Given the description of an element on the screen output the (x, y) to click on. 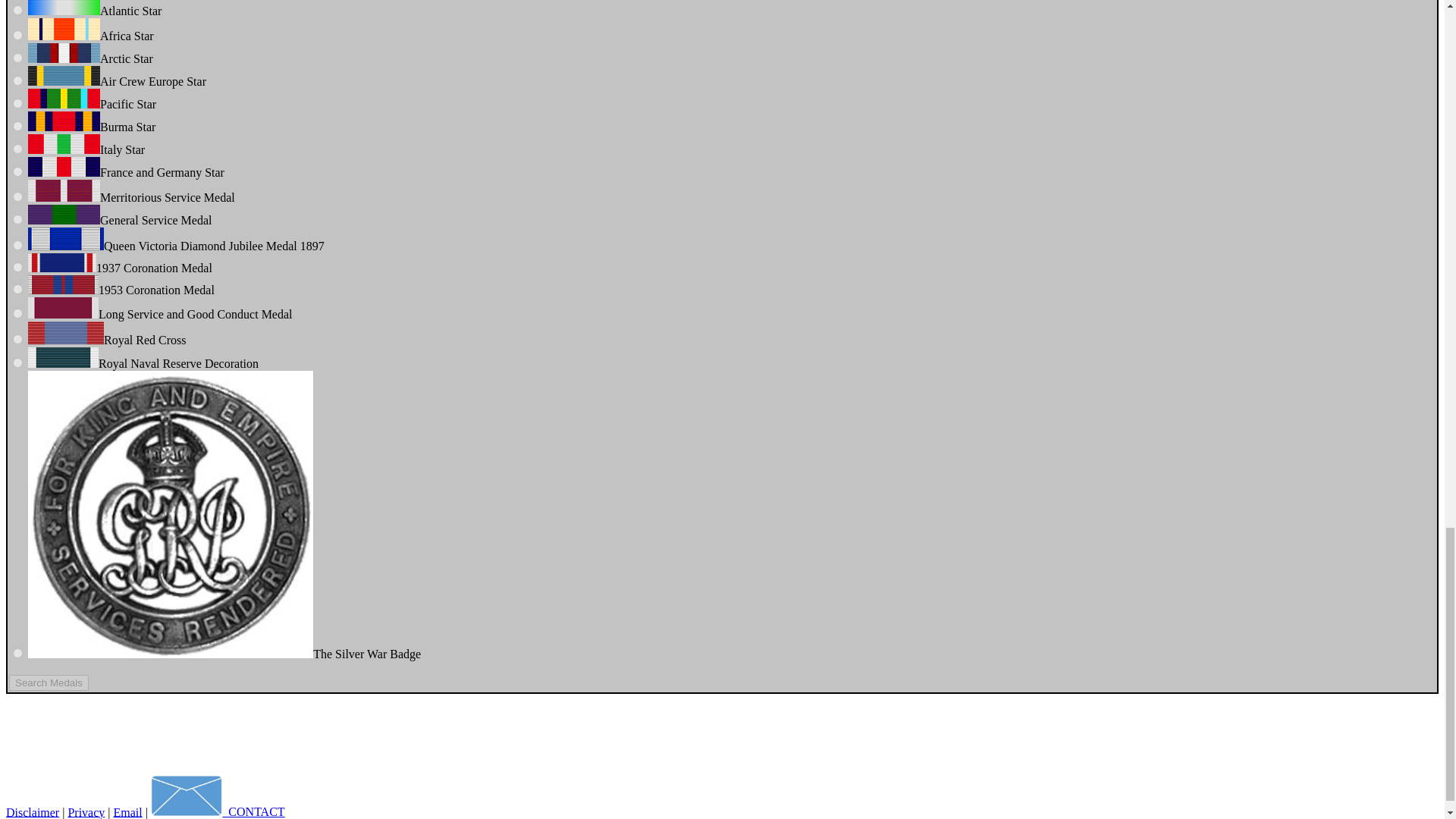
 CONTACT (218, 811)
Search Medals (48, 682)
Disclaimer (32, 811)
Email (127, 811)
Privacy (85, 811)
